Given the description of an element on the screen output the (x, y) to click on. 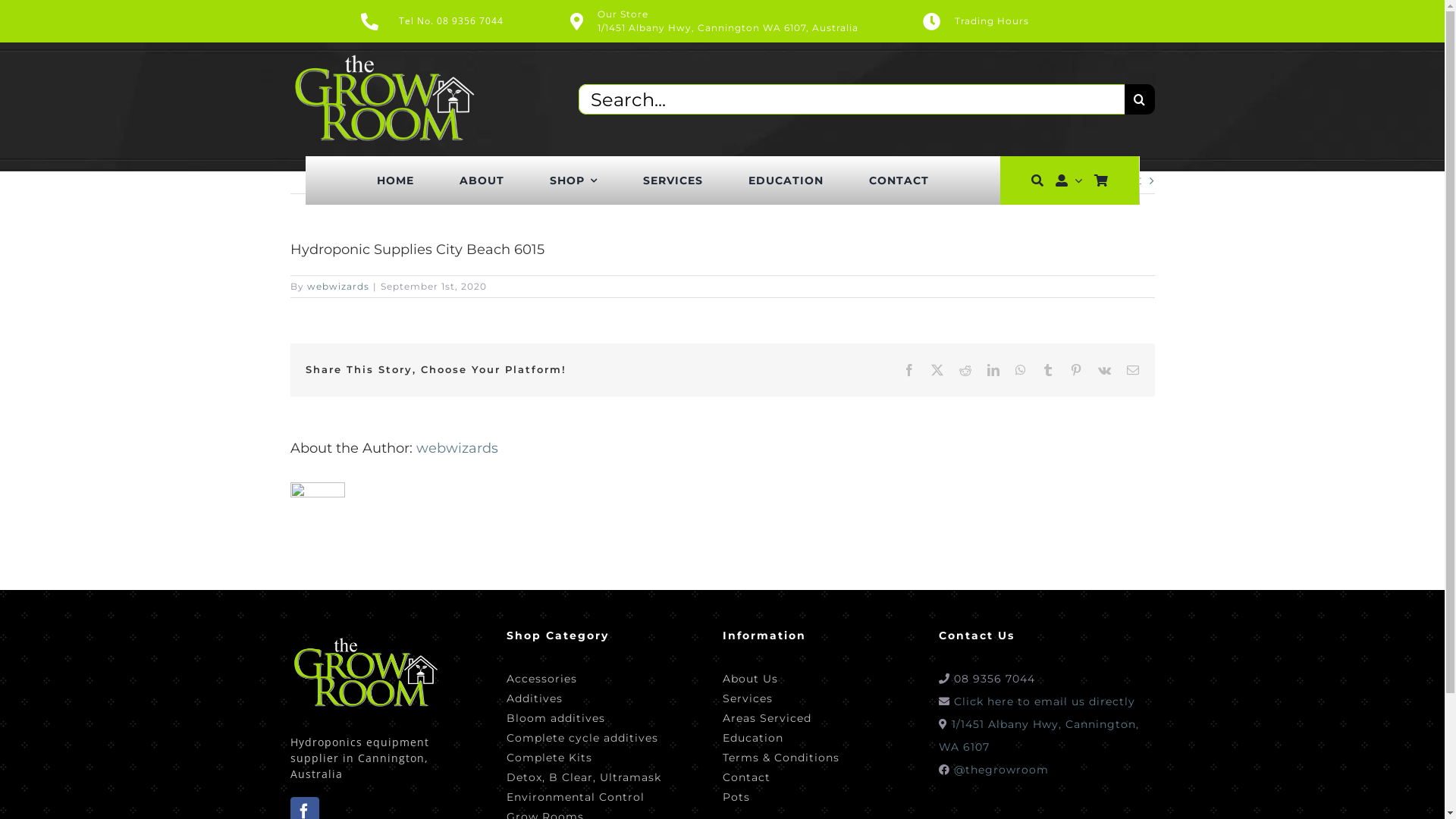
Education Element type: text (779, 736)
Areas Serviced Element type: text (779, 716)
Next Element type: text (1126, 180)
Additives Element type: text (583, 696)
Facebook Element type: text (908, 370)
About Us Element type: text (779, 677)
Click here to email us directly Element type: text (1044, 701)
Email Element type: text (1132, 370)
WhatsApp Element type: text (1020, 370)
webwizards Element type: text (456, 447)
1/1451 Albany Hwy, Cannington WA 6107, Australia Element type: text (727, 27)
Reddit Element type: text (964, 370)
Detox, B Clear, Ultramask Element type: text (583, 775)
Accessories Element type: text (583, 677)
HOME Element type: text (395, 180)
CONTACT Element type: text (898, 180)
Log In Element type: text (1030, 328)
Environmental Control Element type: text (583, 795)
Twitter Element type: text (937, 370)
webwizards Element type: text (337, 285)
SHOP Element type: text (573, 180)
Search Element type: hover (1037, 180)
LinkedIn Element type: text (993, 370)
Terms & Conditions Element type: text (779, 755)
EDUCATION Element type: text (785, 180)
Pinterest Element type: text (1075, 370)
Pots Element type: text (779, 795)
1/1451 Albany Hwy, Cannington, WA 6107 Element type: text (1038, 735)
Vk Element type: text (1104, 370)
SERVICES Element type: text (672, 180)
Tumblr Element type: text (1047, 370)
Previous Element type: text (1064, 180)
Trading Hours Element type: text (1030, 21)
Bloom additives Element type: text (583, 716)
Complete Kits Element type: text (583, 755)
Contact Element type: text (779, 775)
ABOUT Element type: text (481, 180)
Our Store Element type: text (622, 13)
@thegrowroom Element type: text (1000, 769)
Complete cycle additives Element type: text (583, 736)
Services Element type: text (779, 696)
